Given the description of an element on the screen output the (x, y) to click on. 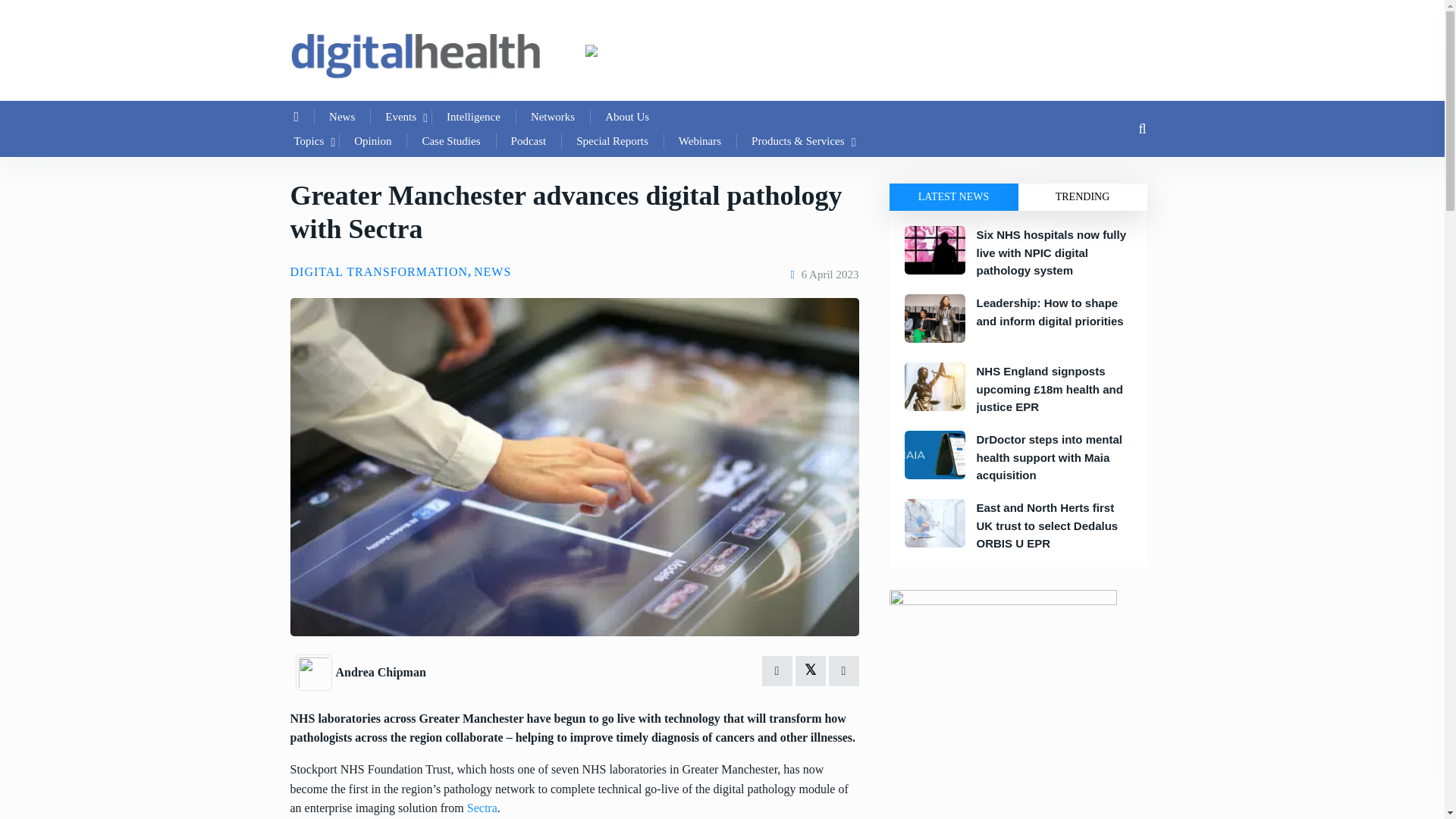
Intelligence (472, 116)
Topics (309, 140)
News (341, 116)
Andrea Chipman (379, 671)
Case Studies (450, 140)
Special Reports (611, 140)
About Us (626, 116)
Podcast (529, 140)
Opinion (372, 140)
Andrea Chipman (315, 670)
